Given the description of an element on the screen output the (x, y) to click on. 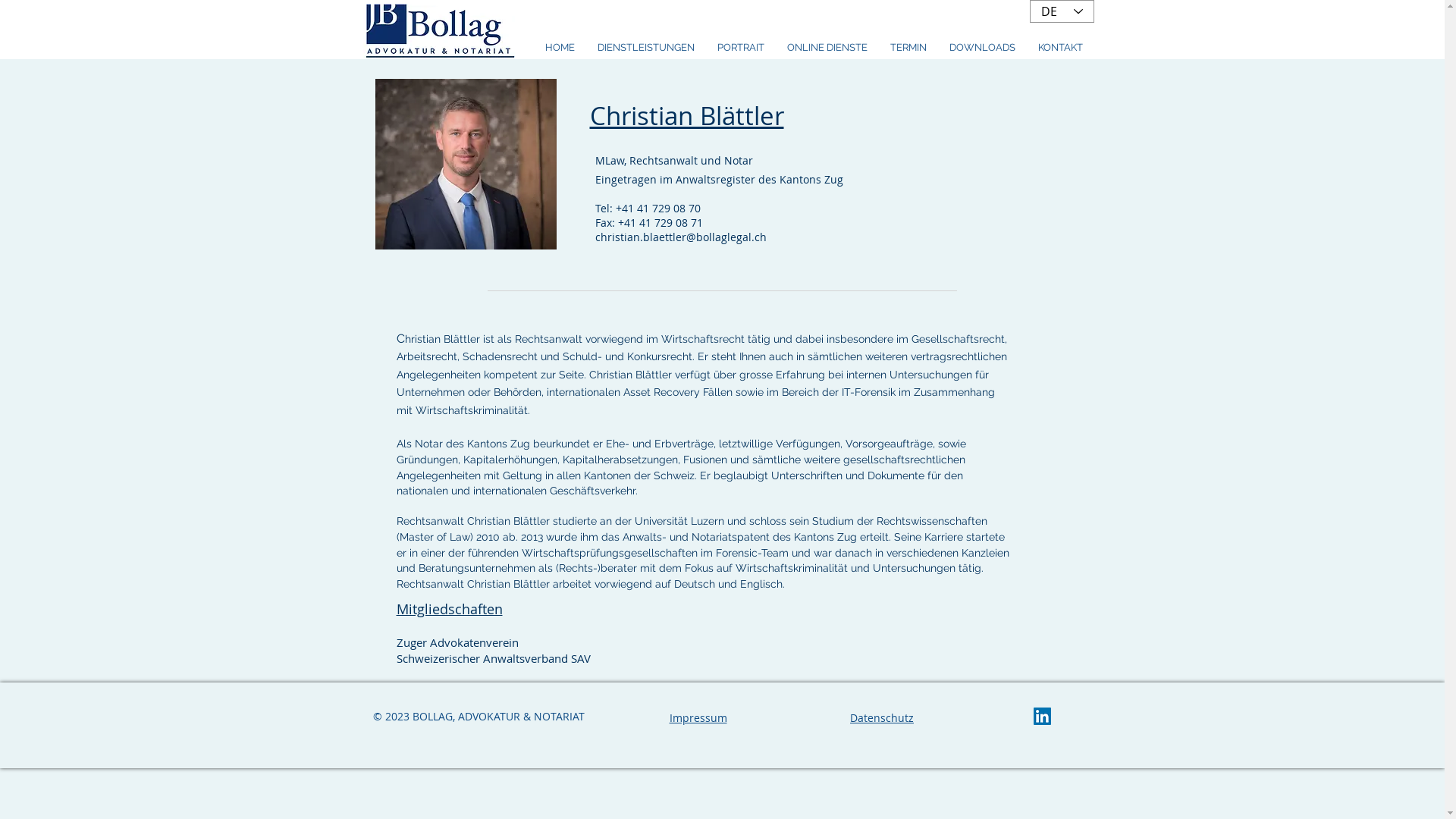
TERMIN Element type: text (907, 47)
Datenschutz Element type: text (881, 717)
HOME Element type: text (559, 47)
DIENSTLEISTUNGEN Element type: text (645, 47)
christian.blaettler@bollaglegal.ch Element type: text (679, 236)
PORTRAIT Element type: text (740, 47)
Impressum Element type: text (697, 717)
ONLINE DIENSTE Element type: text (826, 47)
KONTAKT Element type: text (1060, 47)
DOWNLOADS Element type: text (981, 47)
